Given the description of an element on the screen output the (x, y) to click on. 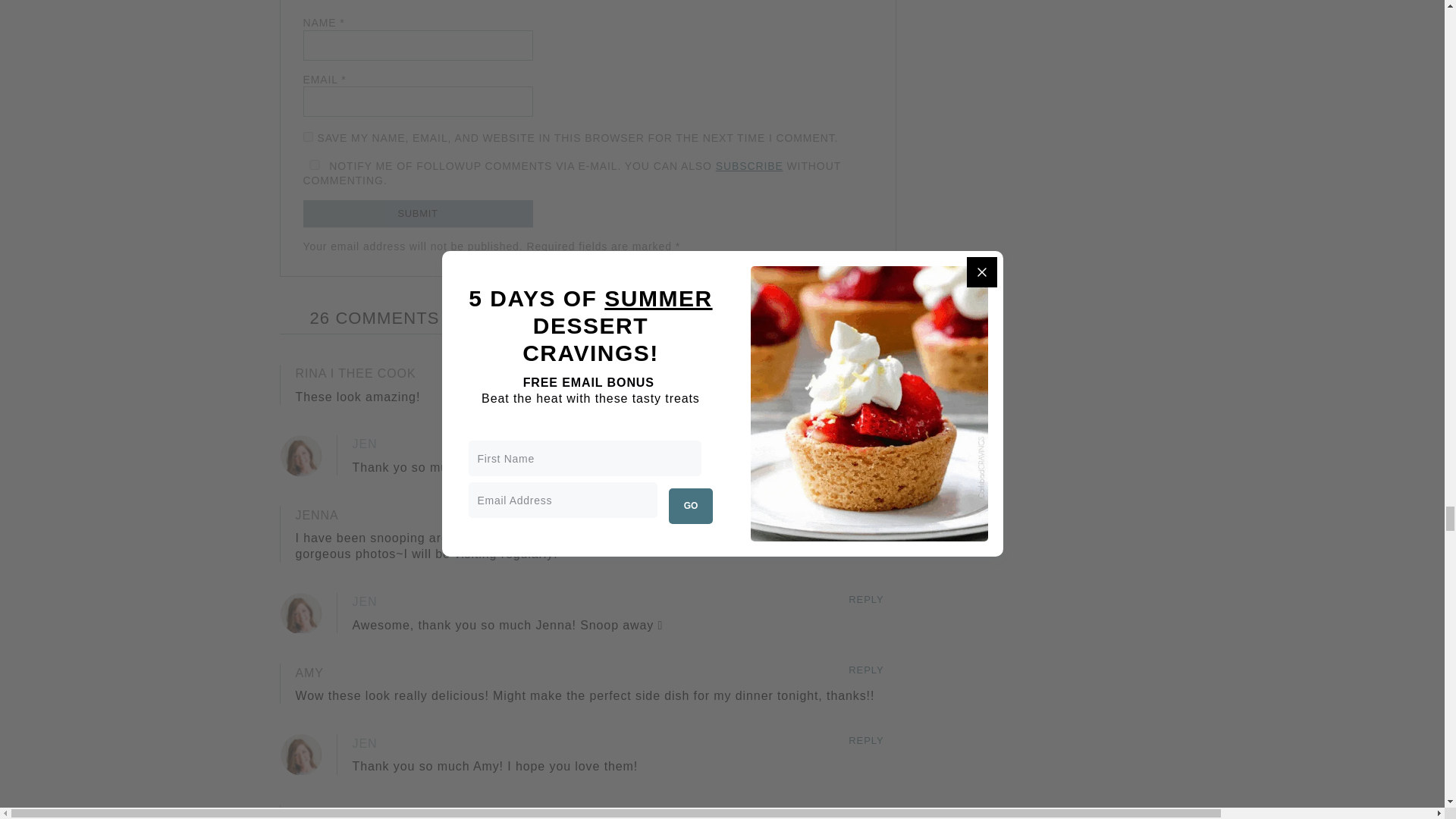
yes (314, 164)
yes (307, 136)
Submit (417, 213)
